Given the description of an element on the screen output the (x, y) to click on. 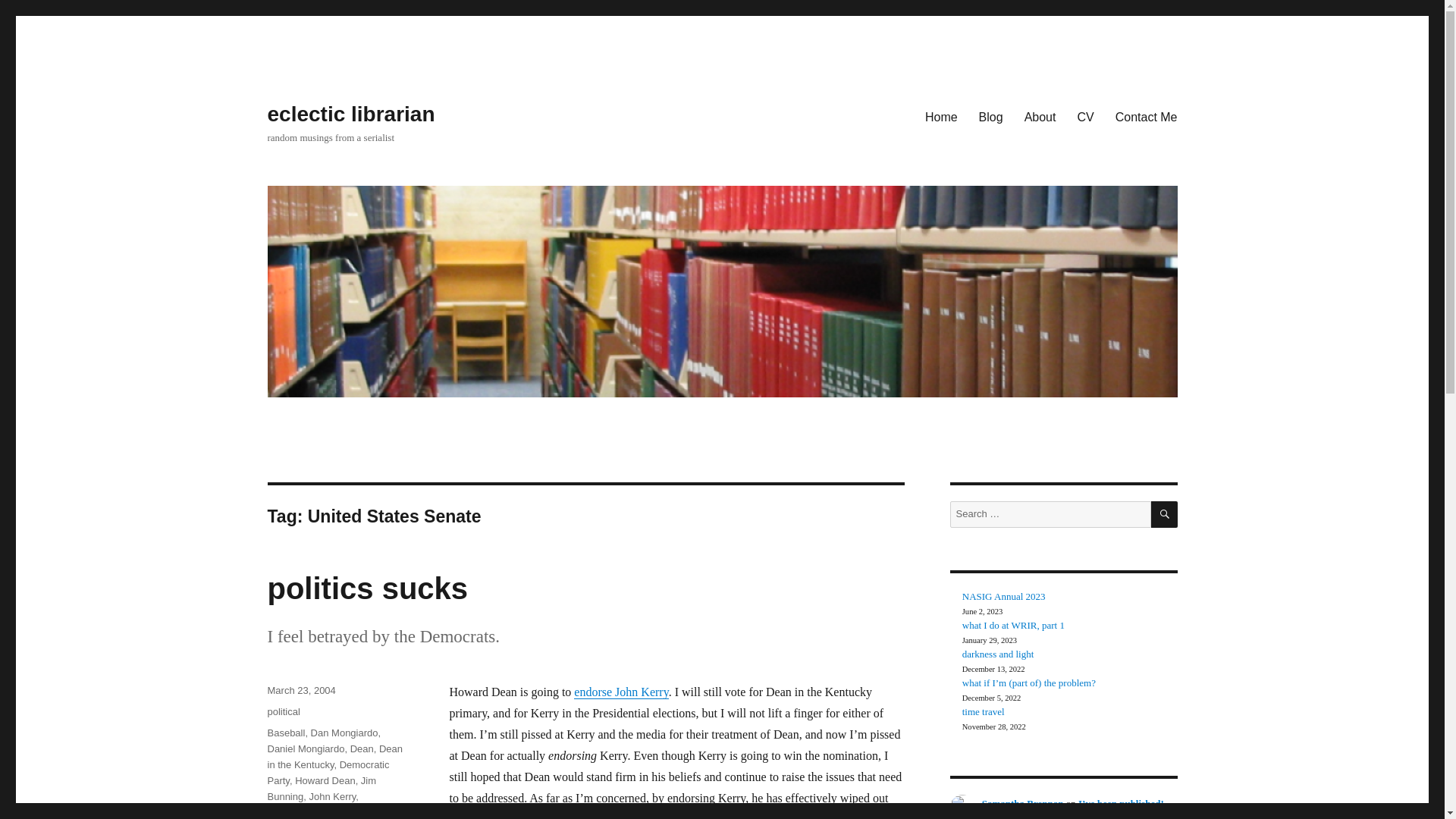
Daniel Mongiardo (304, 748)
endorse John Kerry (620, 691)
politics sucks (366, 588)
time travel (983, 711)
John Kerry (331, 796)
Democratic Party (327, 772)
Kentucky (286, 812)
Kentucky Senate (350, 812)
March 23, 2004 (300, 690)
eclectic librarian (349, 114)
Dean in the Kentucky (334, 756)
Jim Bunning (320, 788)
CV (1084, 116)
SEARCH (1164, 514)
darkness and light (997, 654)
